Given the description of an element on the screen output the (x, y) to click on. 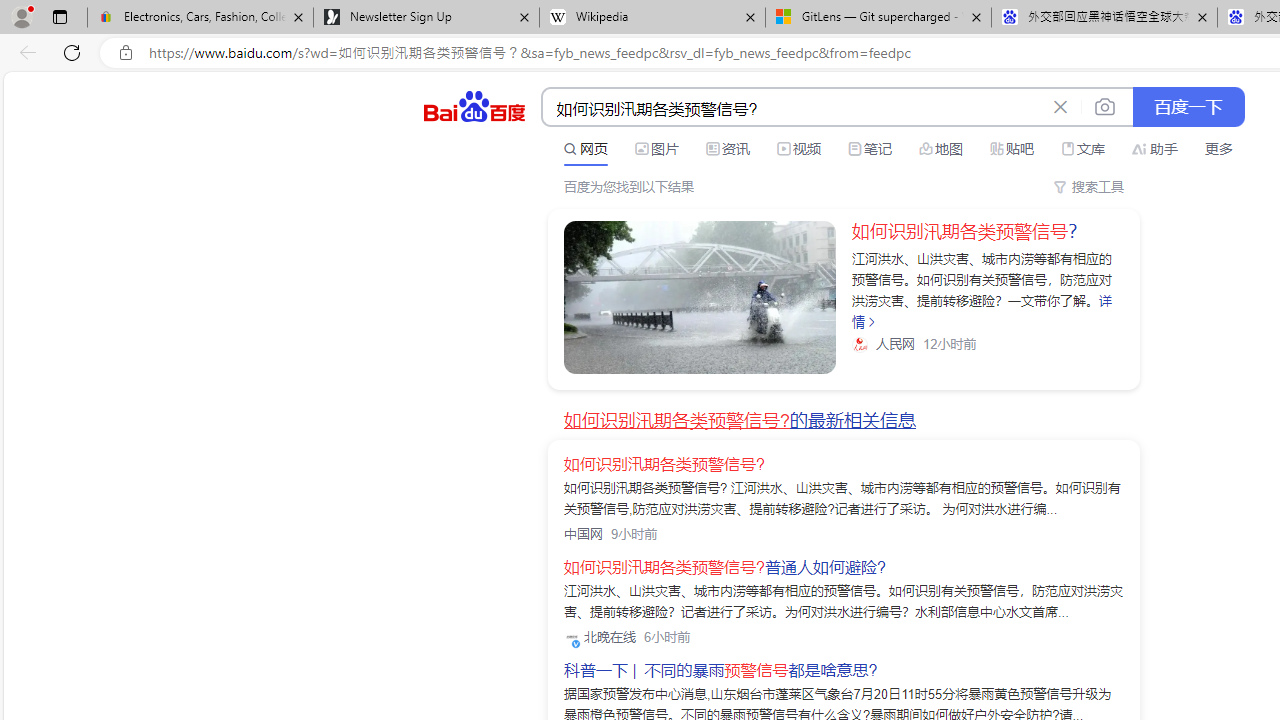
Class: sc-link _link_kwqvb_2 -v-color-primary block (699, 297)
Wikipedia (652, 17)
AutomationID: kw (793, 107)
